Given the description of an element on the screen output the (x, y) to click on. 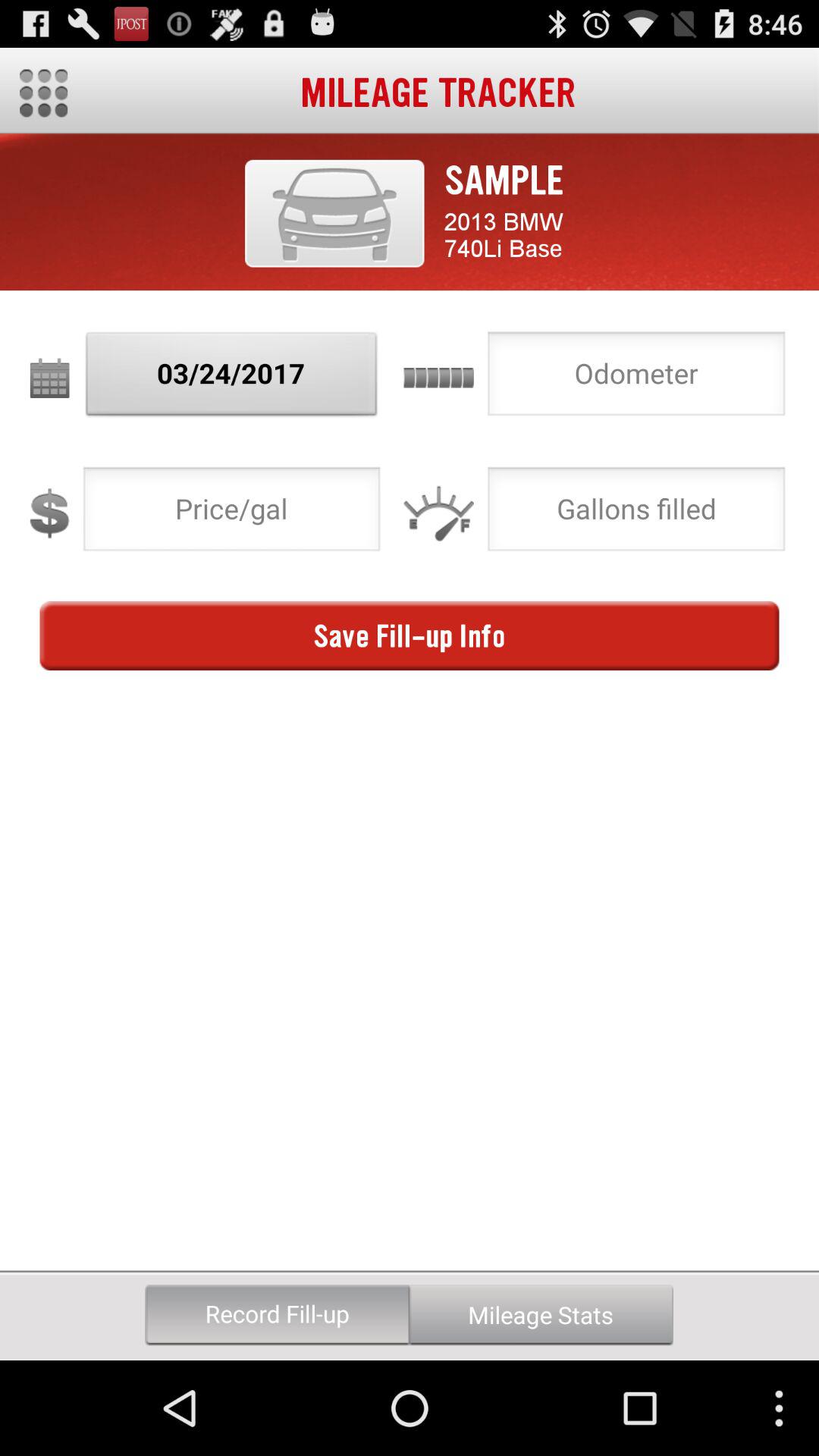
enter price (231, 513)
